Given the description of an element on the screen output the (x, y) to click on. 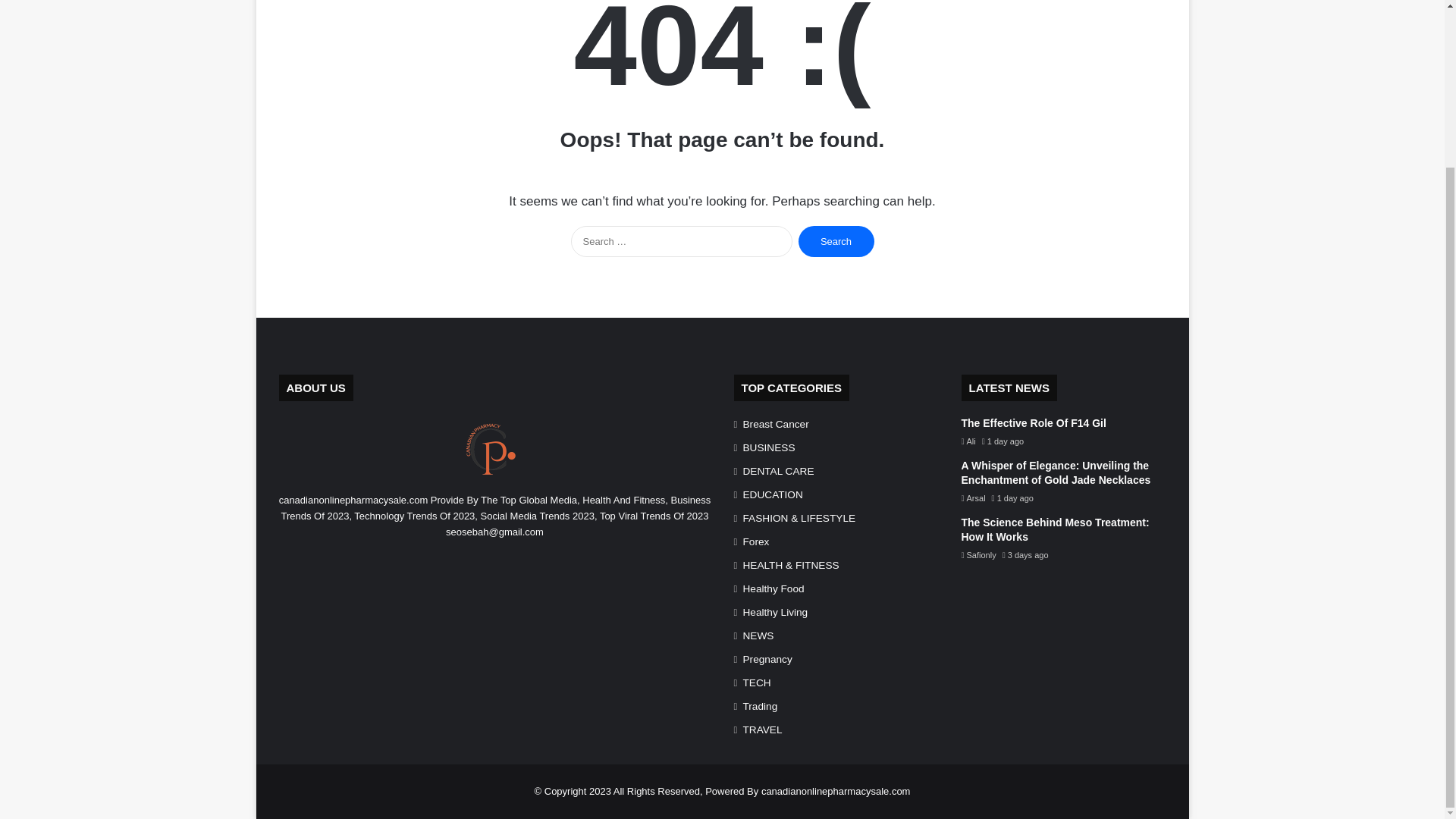
Forex (756, 541)
Search (835, 241)
Search (835, 241)
NEWS (758, 635)
Healthy Living (775, 611)
Breast Cancer (775, 424)
BUSINESS (768, 447)
Ali (967, 440)
The Effective Role Of F14 Gil (1033, 422)
TRAVEL (762, 729)
TECH (756, 682)
DENTAL CARE (777, 471)
Search (835, 241)
Arsal (972, 497)
